Given the description of an element on the screen output the (x, y) to click on. 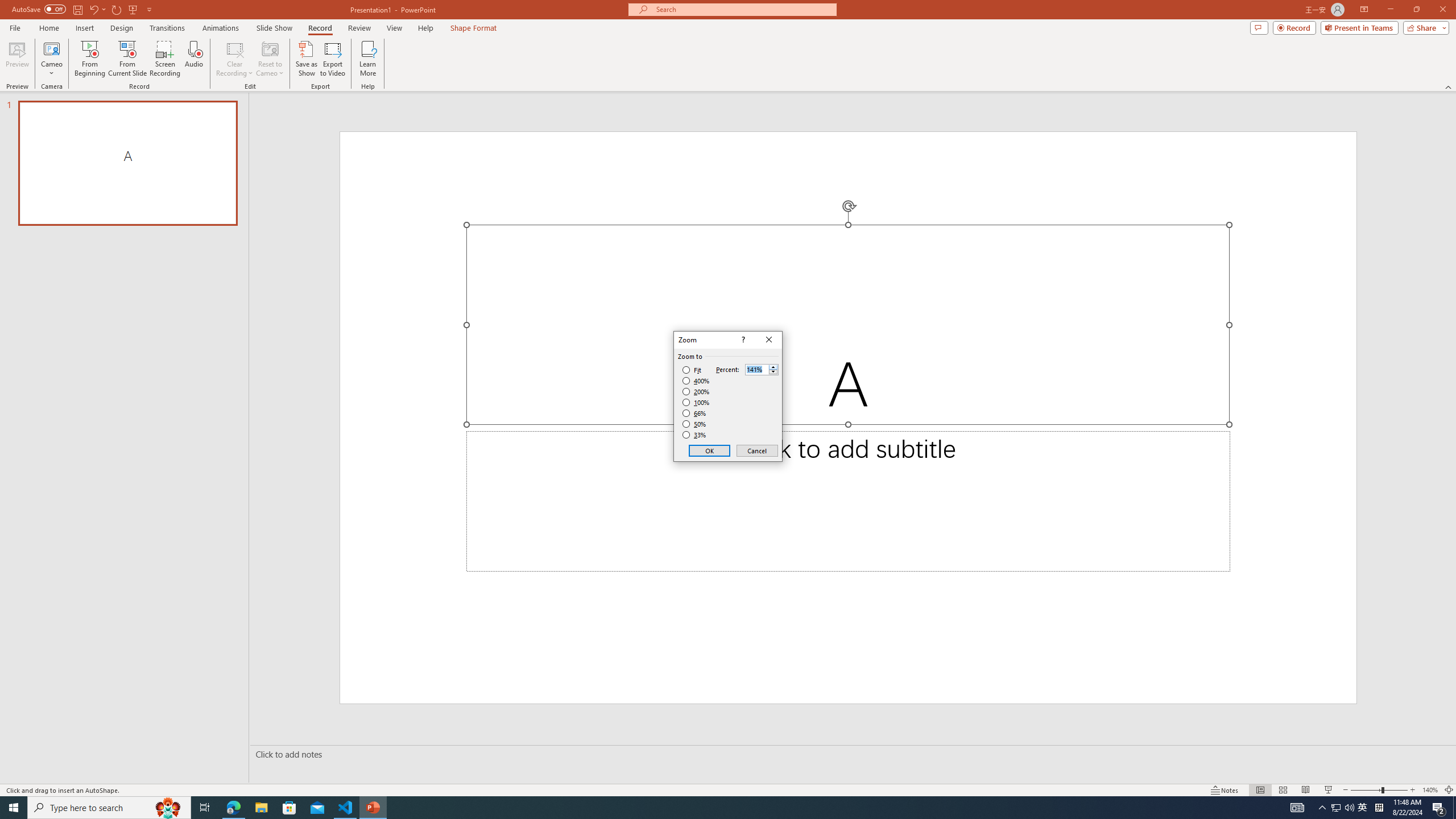
Clear Recording (234, 58)
Context help (742, 339)
Learn More (368, 58)
